Given the description of an element on the screen output the (x, y) to click on. 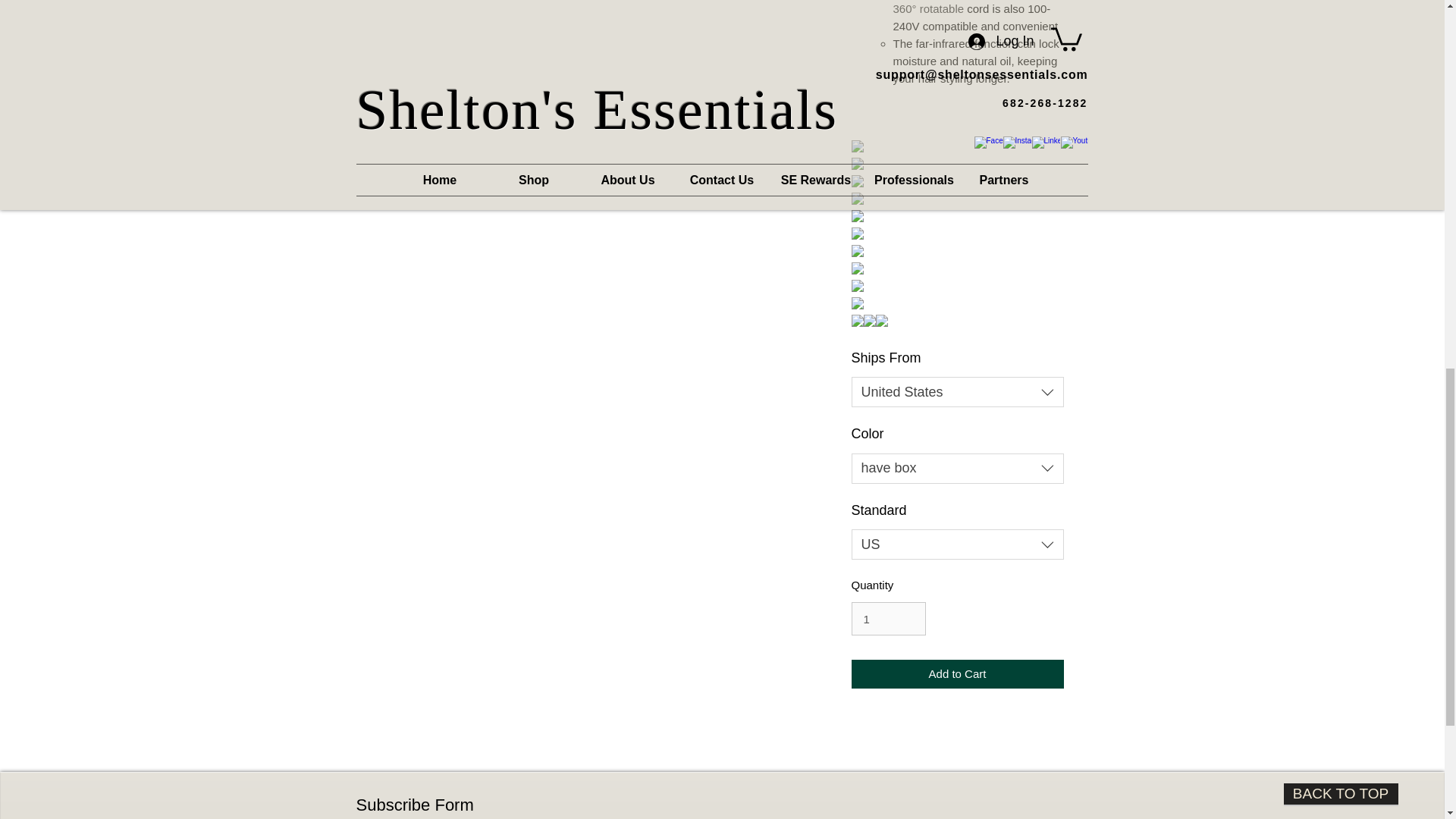
1 (887, 618)
US (956, 544)
United States (956, 391)
BACK TO TOP (1339, 793)
have box (956, 468)
Add to Cart (956, 674)
